Given the description of an element on the screen output the (x, y) to click on. 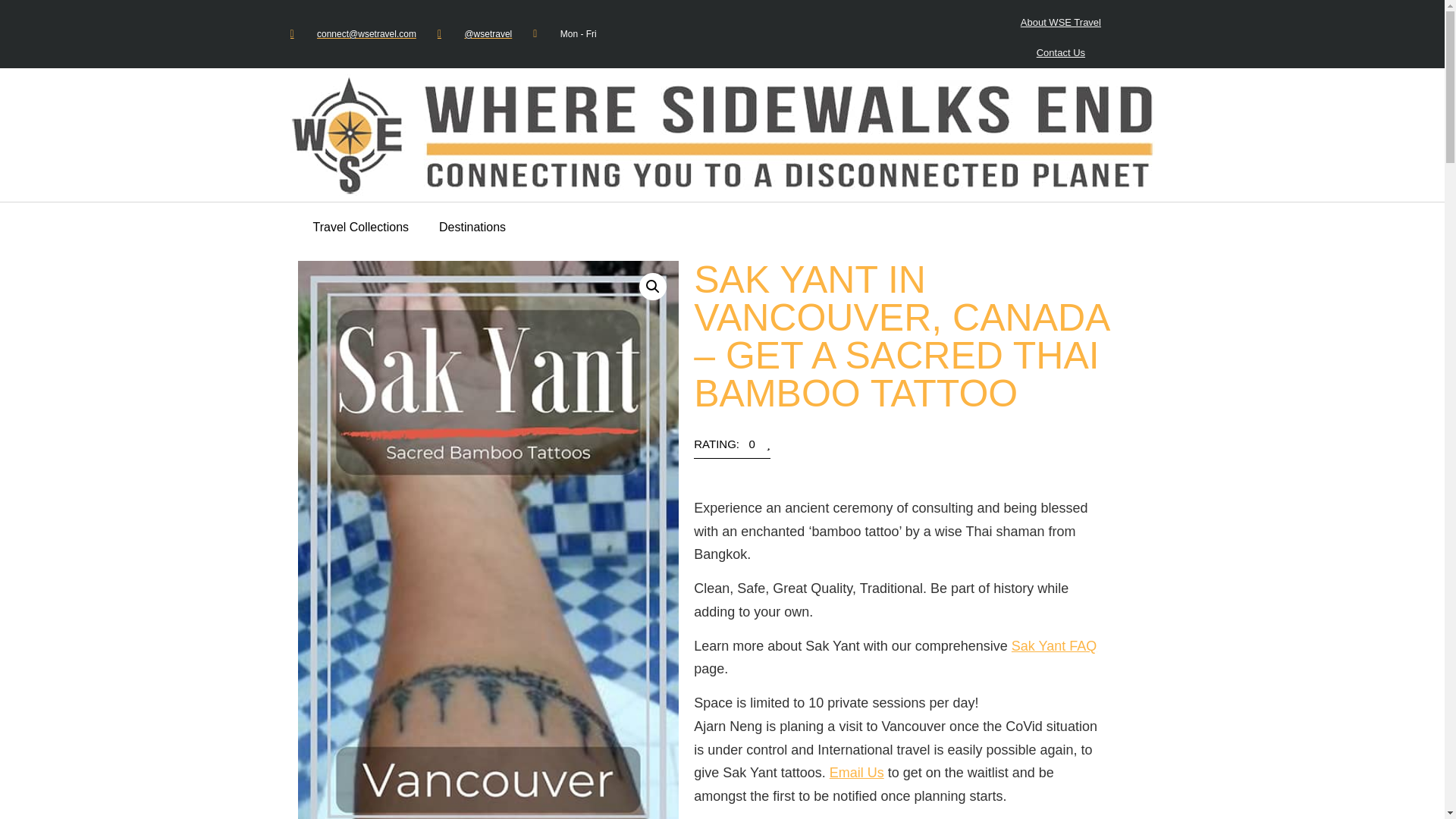
Contact Us (1061, 52)
Travel Collections (360, 226)
Destinations (472, 226)
About WSE Travel (1061, 22)
